Given the description of an element on the screen output the (x, y) to click on. 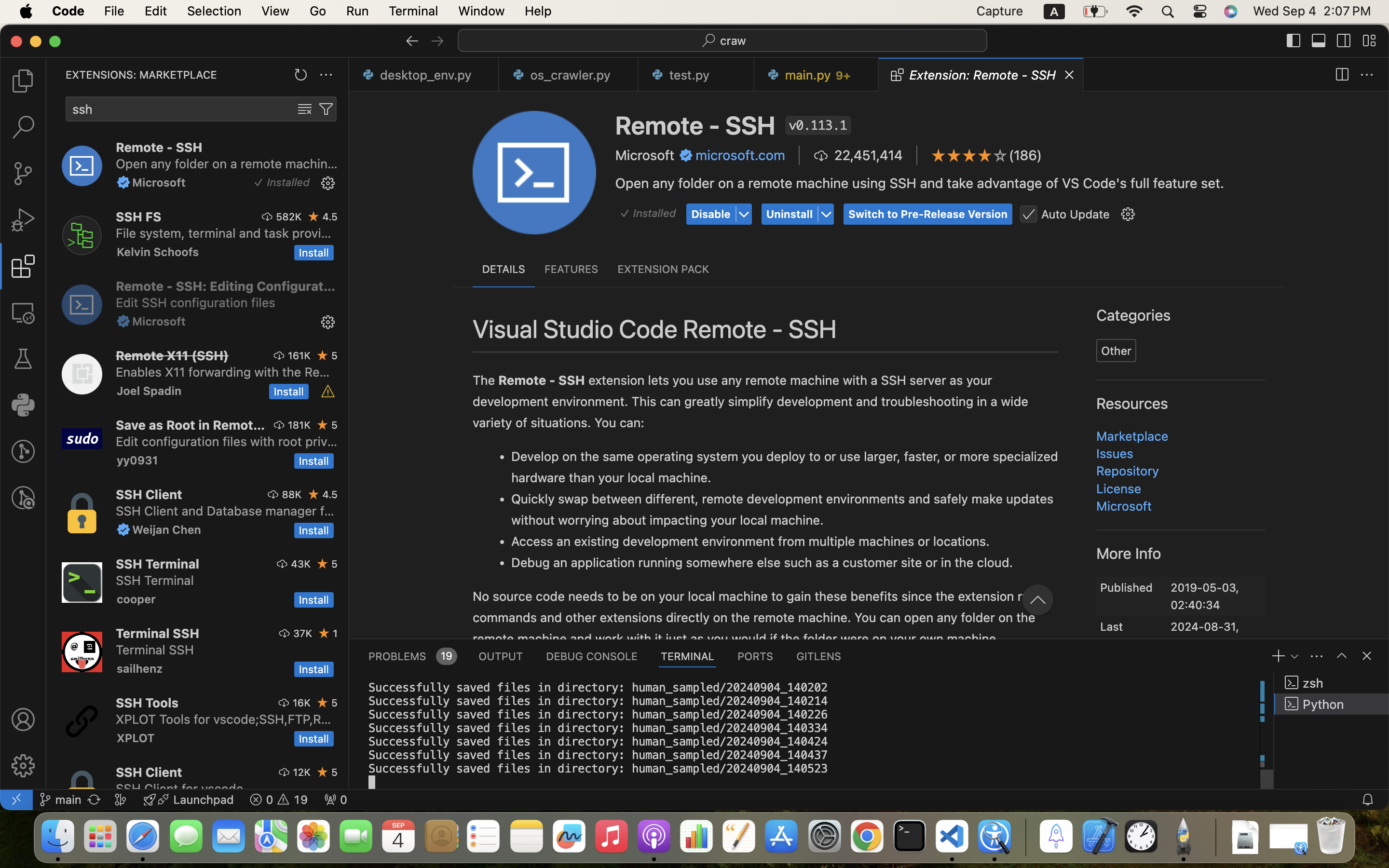
0  Element type: AXRadioButton (23, 80)
 Element type: AXCheckBox (1344, 40)
12K Element type: AXStaticText (301, 771)
 Element type: AXCheckBox (1341, 655)
